Given the description of an element on the screen output the (x, y) to click on. 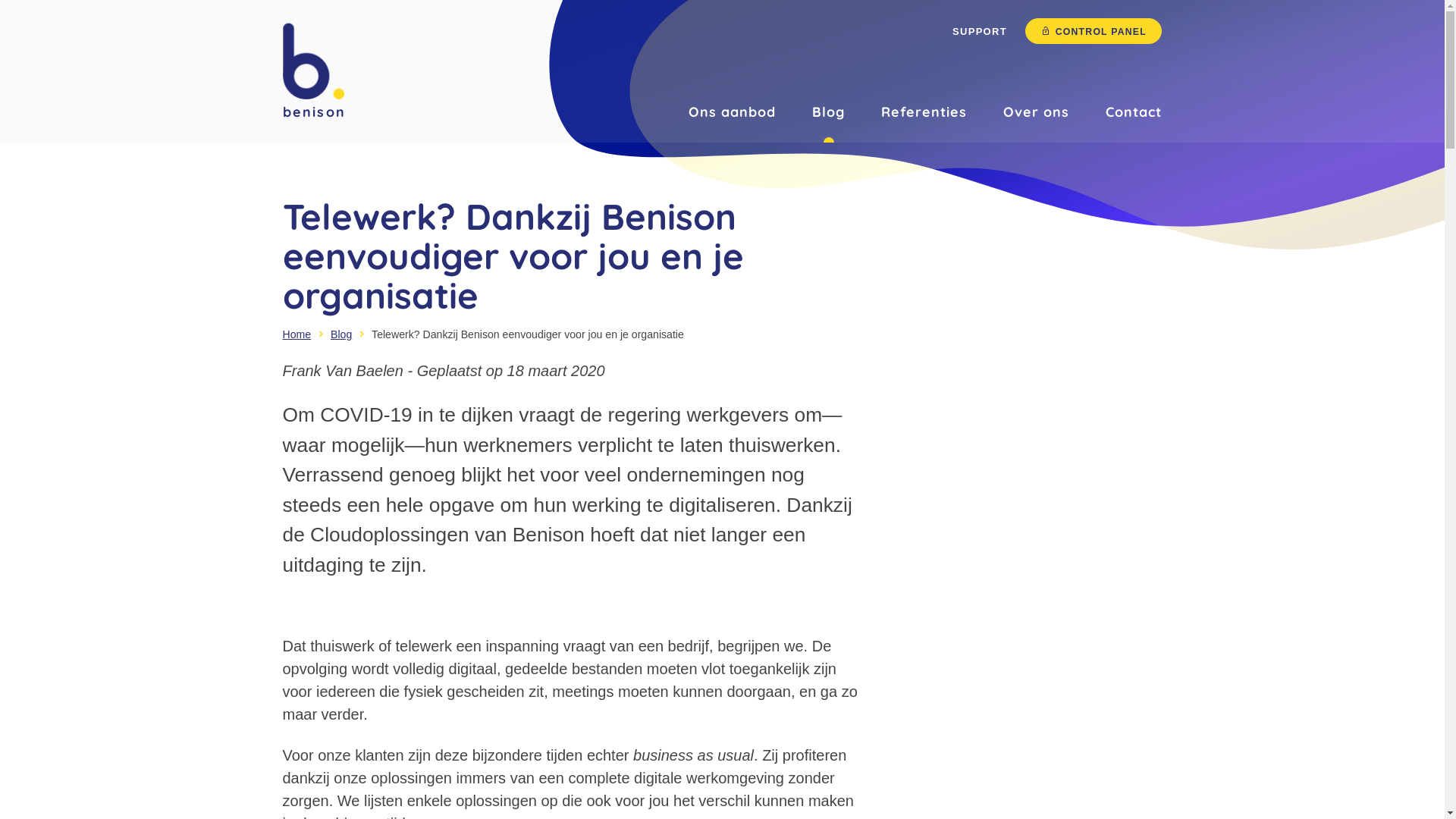
Referenties Element type: text (923, 111)
CONTROL PANEL Element type: text (1093, 30)
Over ons Element type: text (1036, 111)
benison Element type: text (313, 71)
Blog Element type: text (828, 111)
Ons aanbod Element type: text (731, 111)
SUPPORT Element type: text (979, 31)
Home Element type: text (296, 334)
Blog Element type: text (340, 334)
Contact Element type: text (1133, 111)
